Given the description of an element on the screen output the (x, y) to click on. 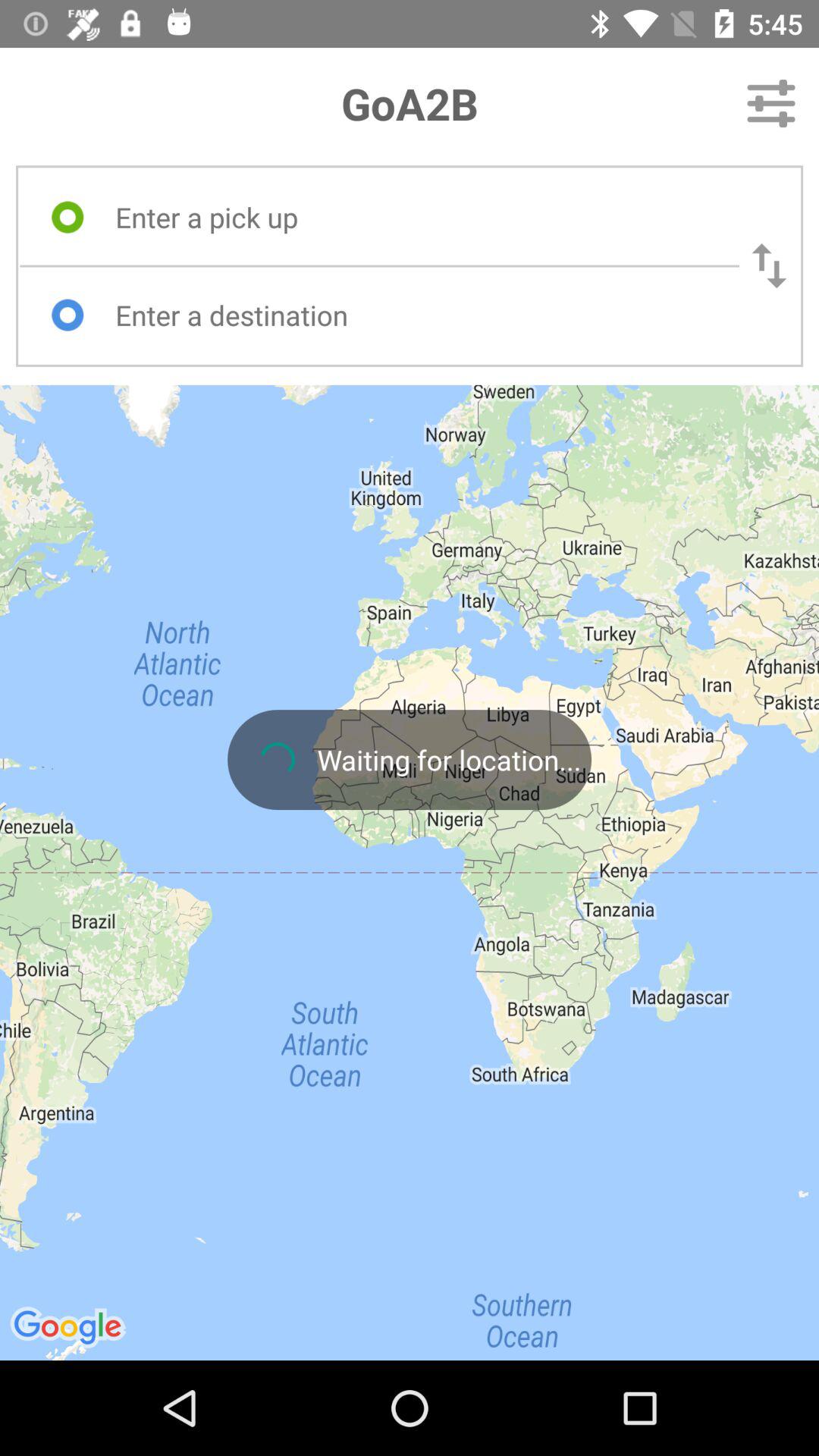
type pick up location (413, 216)
